Given the description of an element on the screen output the (x, y) to click on. 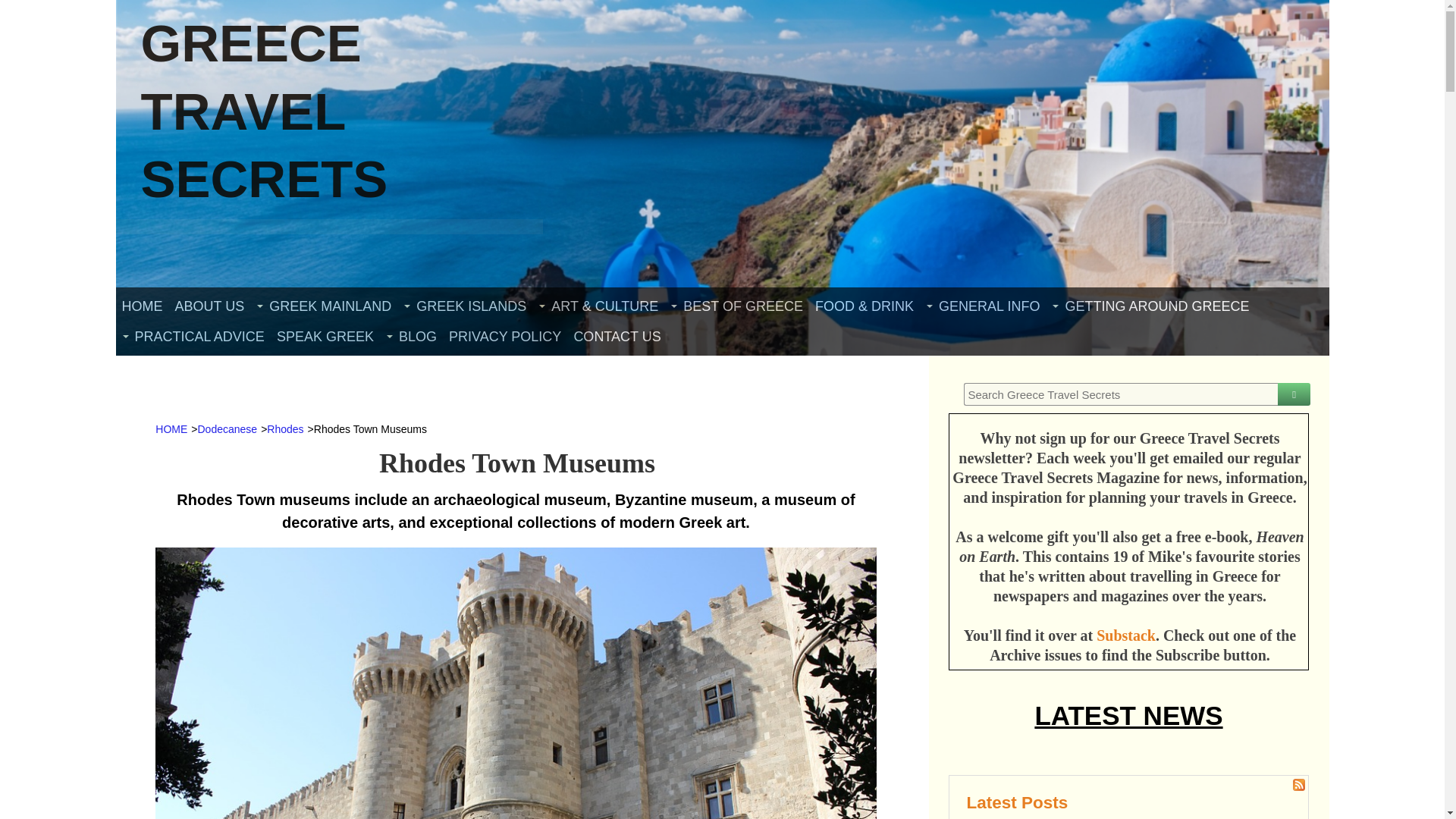
HOME (141, 306)
GREECE TRAVEL SECRETS (264, 111)
ABOUT US (209, 306)
